Given the description of an element on the screen output the (x, y) to click on. 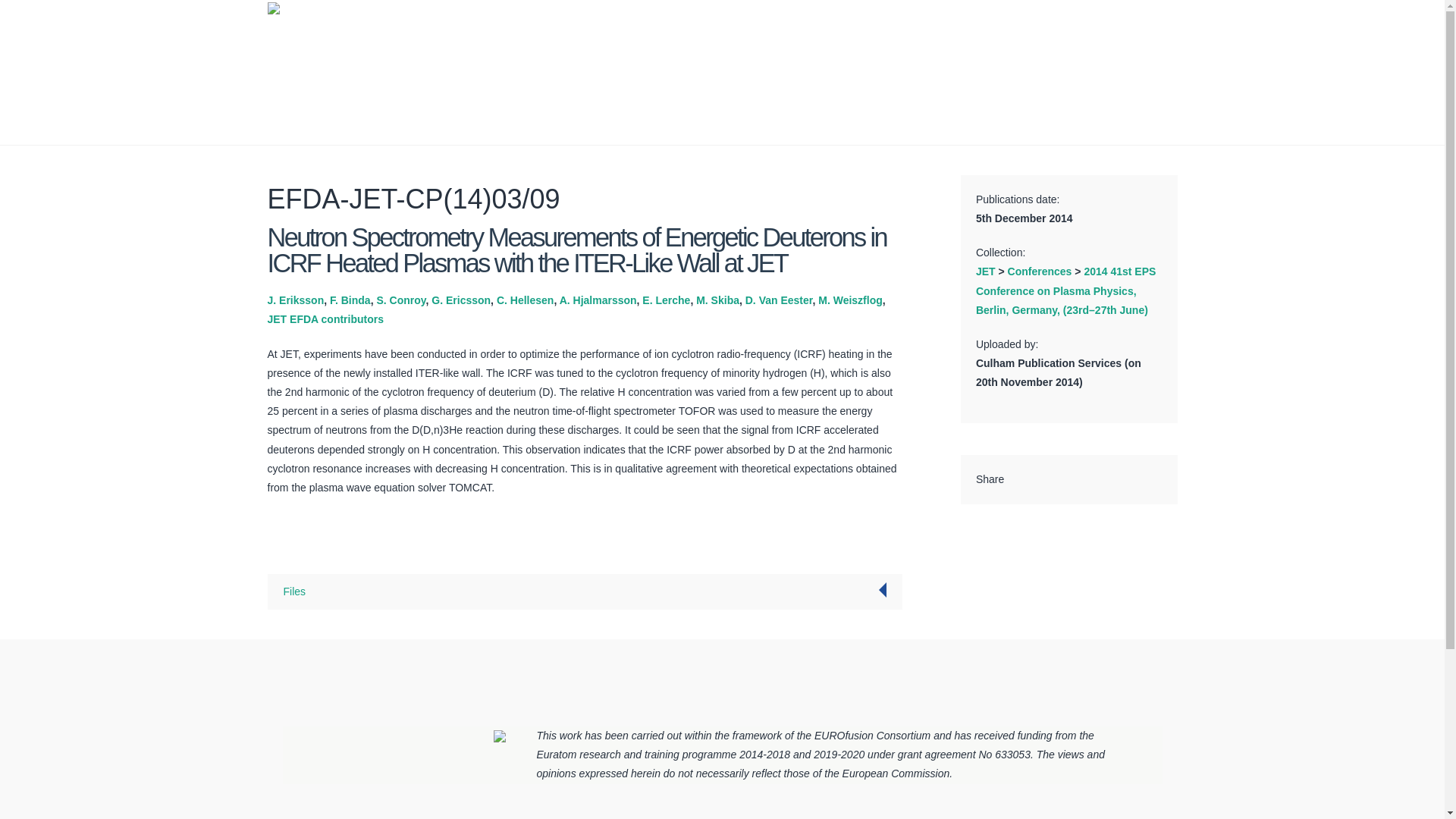
J. Eriksson (294, 300)
Files (294, 591)
S. Conroy (400, 300)
M. Skiba (717, 300)
C. Hellesen (524, 300)
E. Lerche (666, 300)
JET (985, 271)
TEAM LISTS (990, 80)
D. Van Eester (778, 300)
EUROfusion Preprints and Conference Papers service (703, 19)
